Given the description of an element on the screen output the (x, y) to click on. 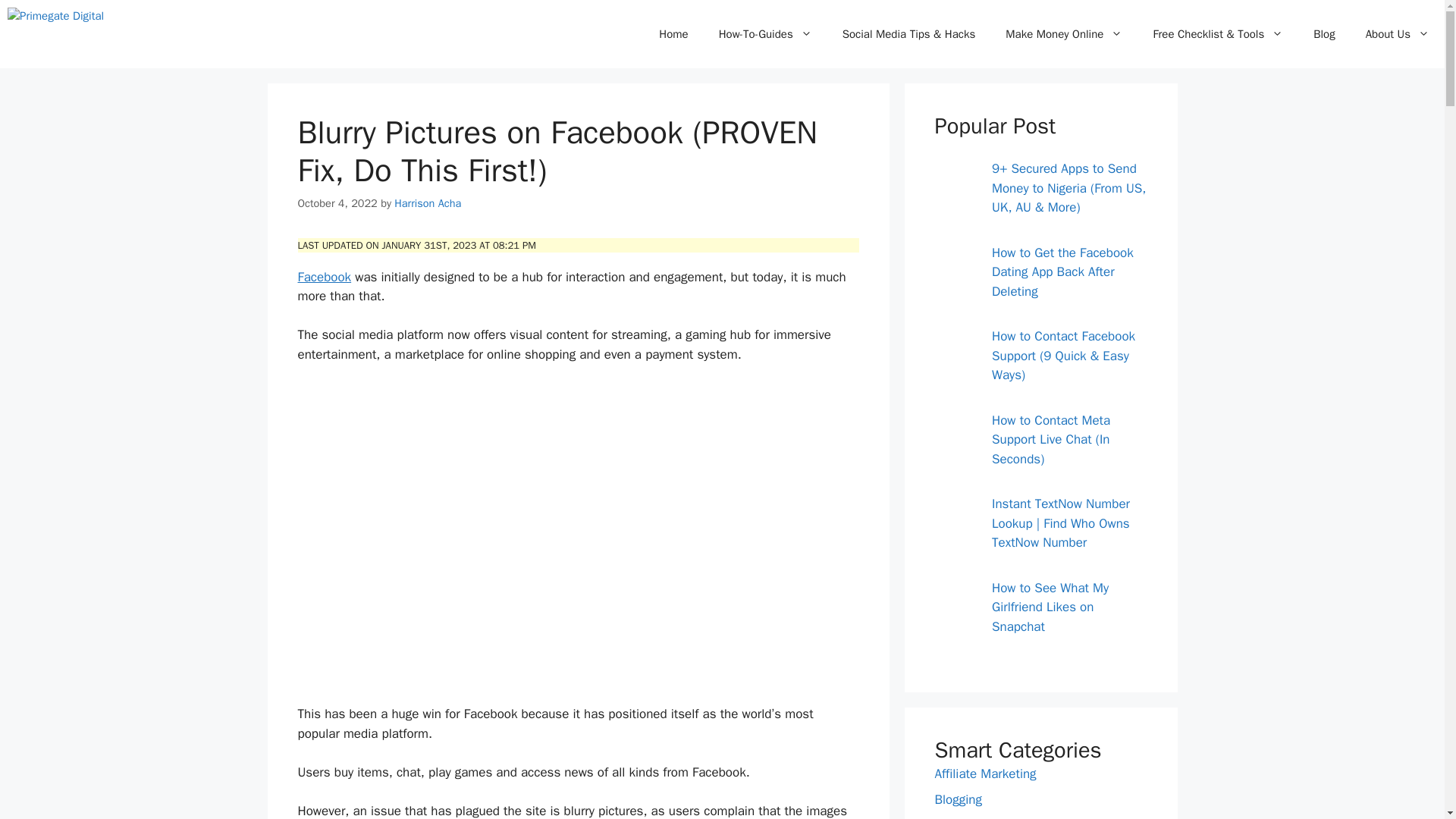
How-To-Guides (765, 33)
Blog (1323, 33)
Make Money Online (1063, 33)
How to Get the Facebook Dating App Back After Deleting (953, 270)
Primegate Digital (61, 33)
Facebook (323, 277)
How to See What My Girlfriend Likes on Snapchat (953, 606)
View all posts by Harrison Acha (427, 202)
Harrison Acha (427, 202)
Home (673, 33)
